Given the description of an element on the screen output the (x, y) to click on. 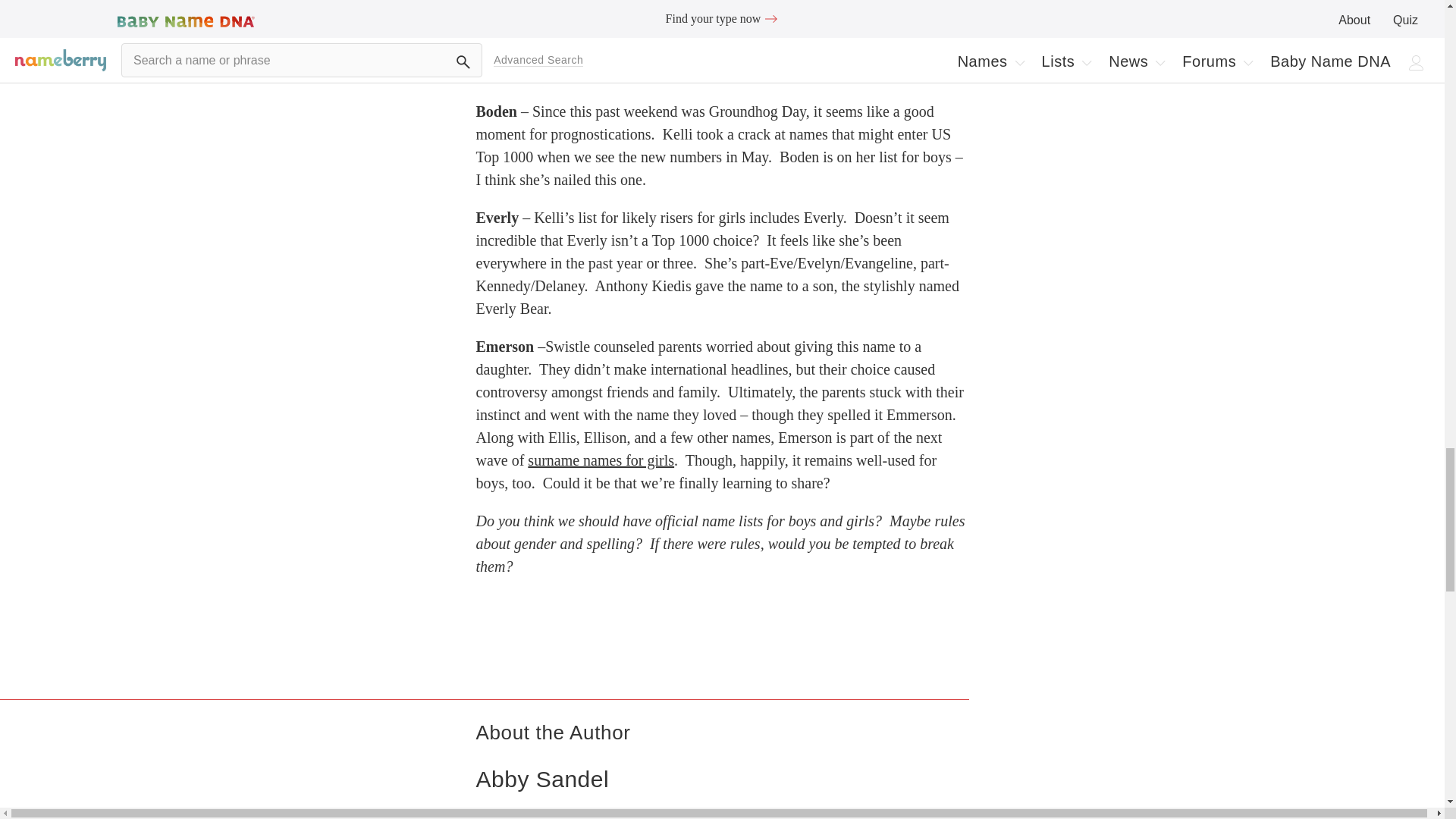
Facebook (484, 814)
surname names for girls (580, 813)
